Given the description of an element on the screen output the (x, y) to click on. 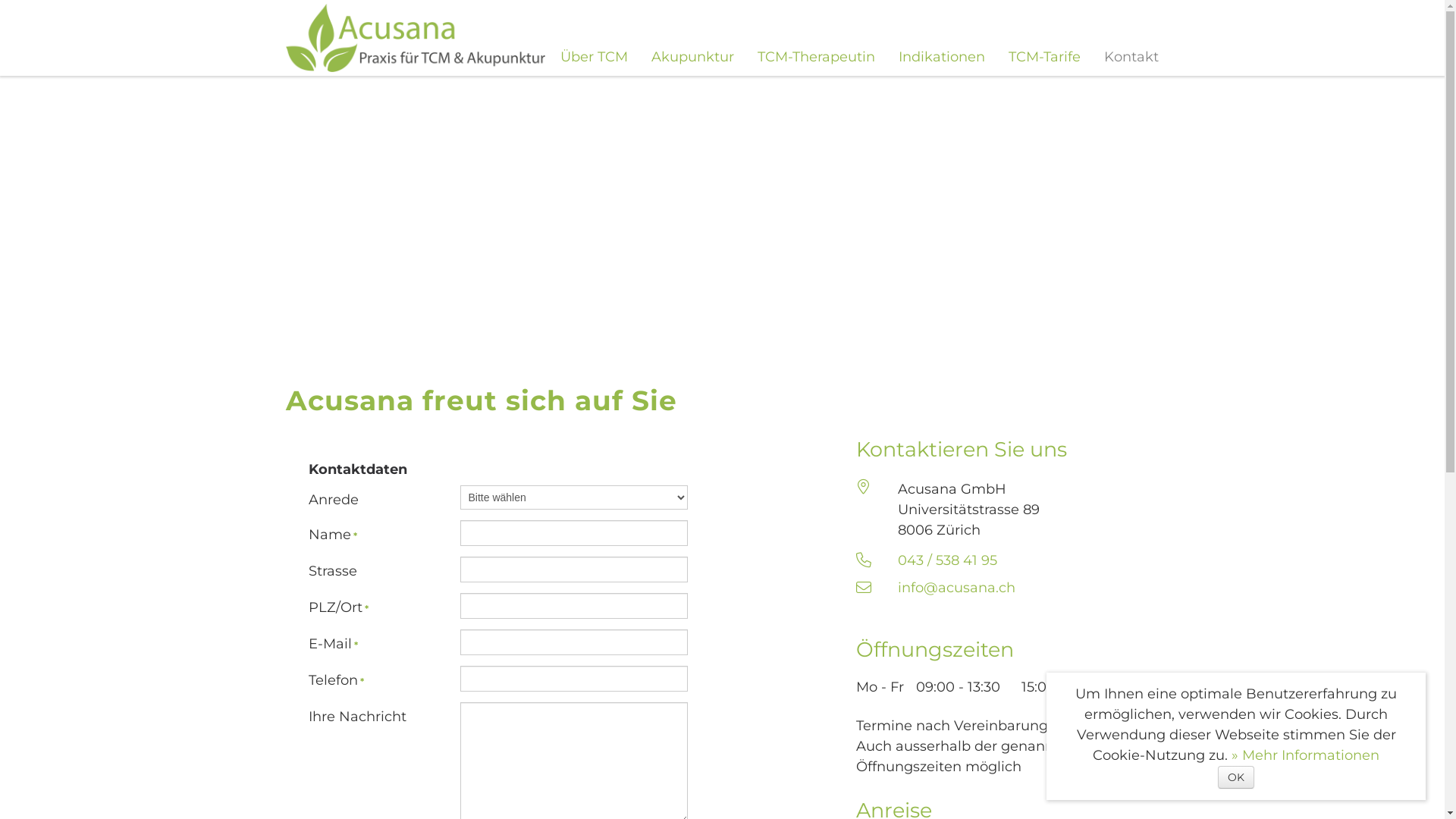
Kontakt Element type: text (1131, 56)
Indikationen Element type: text (940, 56)
info@acusana.ch Element type: text (956, 587)
OK Element type: text (1235, 776)
043 / 538 41 95 Element type: text (947, 560)
Akupunktur Element type: text (691, 56)
TCM-Therapeutin Element type: text (815, 56)
TCM-Tarife Element type: text (1044, 56)
